Given the description of an element on the screen output the (x, y) to click on. 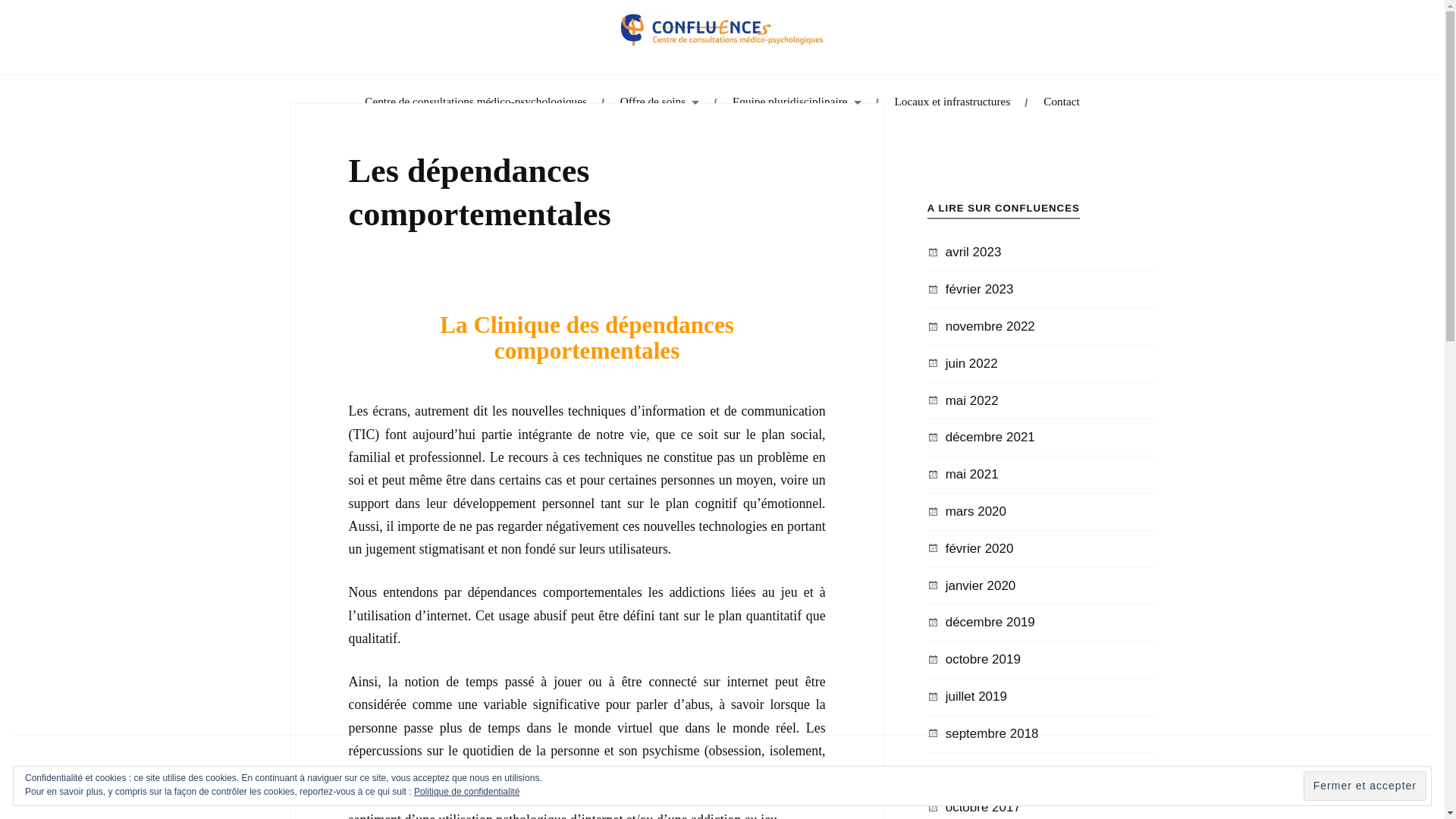
novembre 2022 Element type: text (990, 326)
juin 2022 Element type: text (971, 363)
Confluences Element type: text (147, 116)
avril 2023 Element type: text (973, 251)
juillet 2018 Element type: text (976, 770)
Locaux et infrastructures Element type: text (952, 101)
octobre 2019 Element type: text (982, 659)
mai 2021 Element type: text (971, 474)
Equipe pluridisciplinaire Element type: text (796, 101)
juillet 2019 Element type: text (976, 696)
Contact Element type: text (1061, 101)
janvier 2020 Element type: text (980, 585)
octobre 2017 Element type: text (982, 807)
septembre 2018 Element type: text (991, 733)
mars 2020 Element type: text (975, 511)
mai 2022 Element type: text (971, 400)
Offre de soins Element type: text (659, 101)
Fermer et accepter Element type: text (1364, 785)
